Given the description of an element on the screen output the (x, y) to click on. 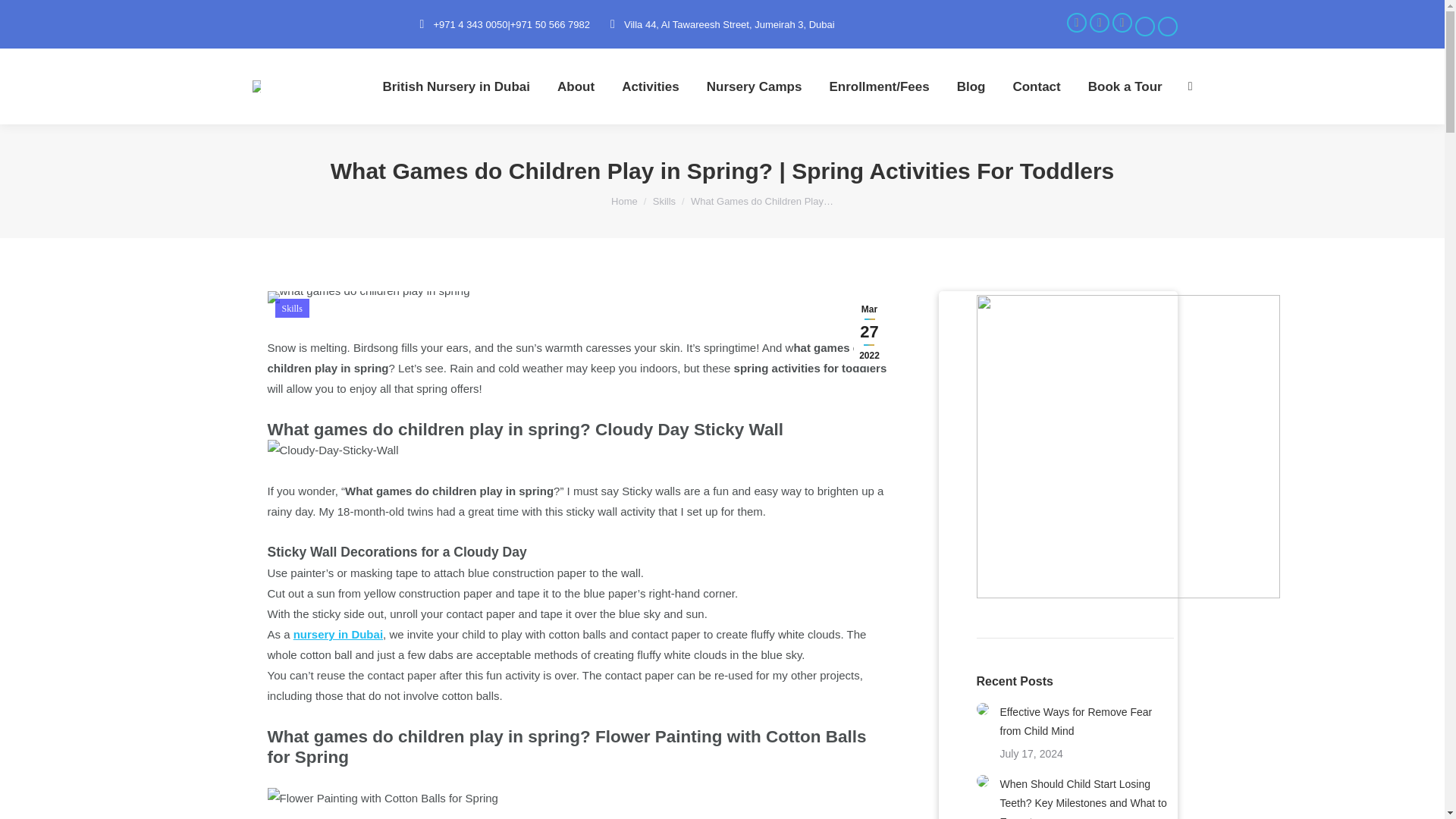
Linkedin page opens in new window (1166, 26)
YouTube page opens in new window (1144, 26)
Instagram page opens in new window (1121, 21)
Activities (650, 86)
Linkedin page opens in new window (1166, 26)
Instagram page opens in new window (1121, 21)
YouTube page opens in new window (1144, 26)
British Nursery in Dubai (455, 86)
Nursery Camps (754, 86)
About (575, 86)
Skills (663, 201)
Home (624, 201)
Contact (1035, 86)
What-games-do-children-play-in-spring (367, 297)
Facebook page opens in new window (1075, 21)
